Given the description of an element on the screen output the (x, y) to click on. 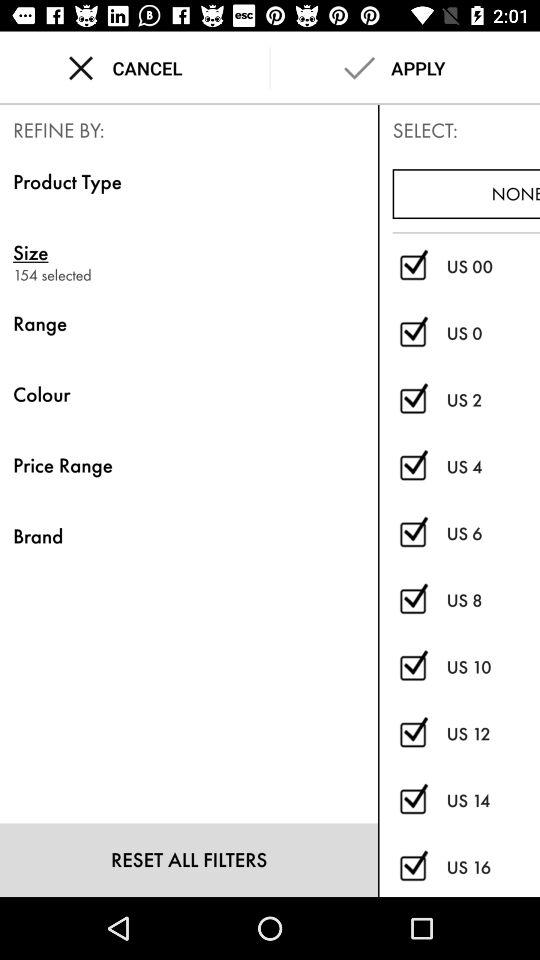
scroll to the reset all filters icon (188, 859)
